Given the description of an element on the screen output the (x, y) to click on. 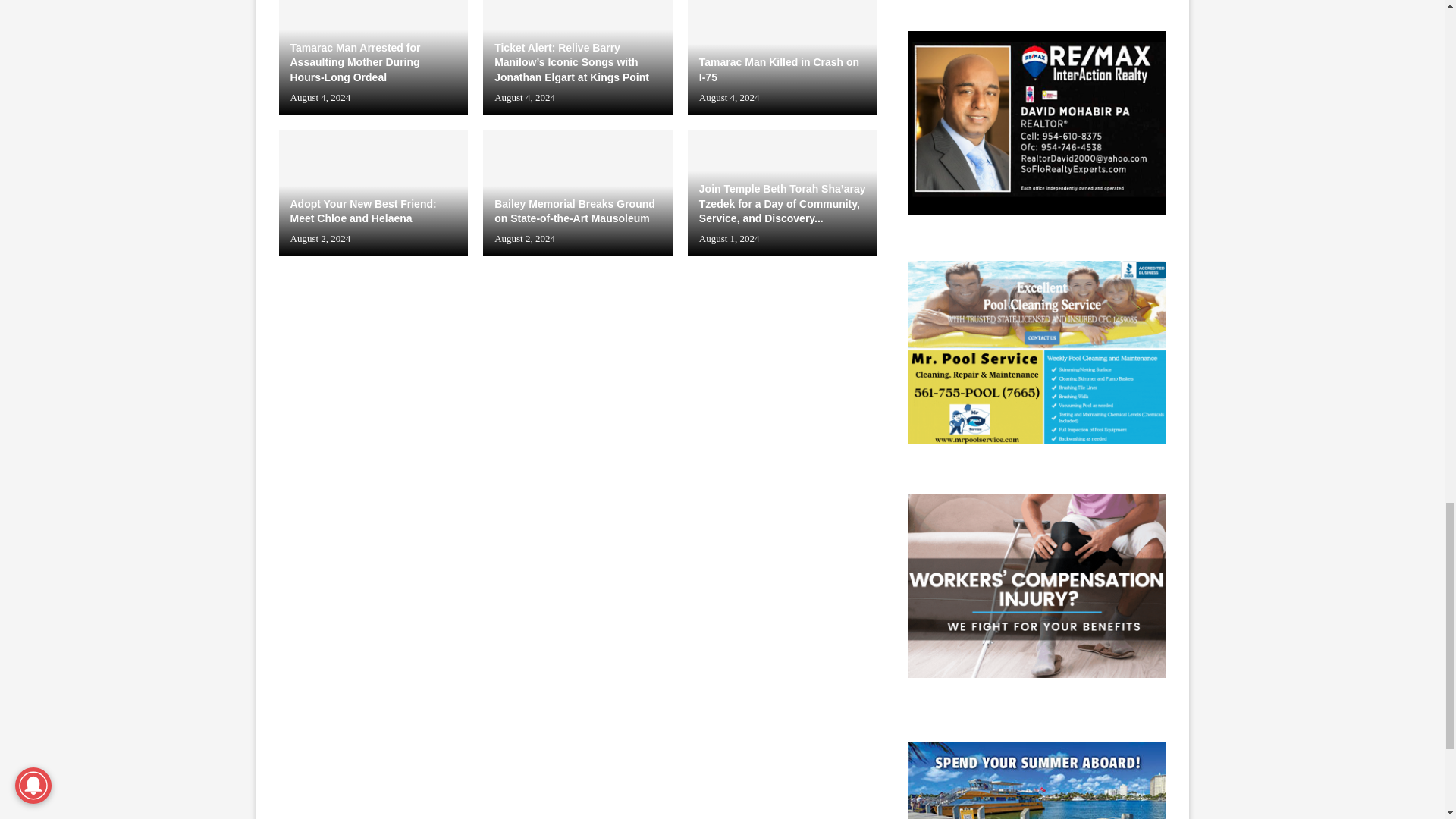
Adopt Your New Best Friend: Meet Chloe and Helaena (373, 193)
Tamarac Man Killed in Crash on I-75 (782, 57)
Bailey Memorial Breaks Ground on State-of-the-Art Mausoleum (577, 193)
